Given the description of an element on the screen output the (x, y) to click on. 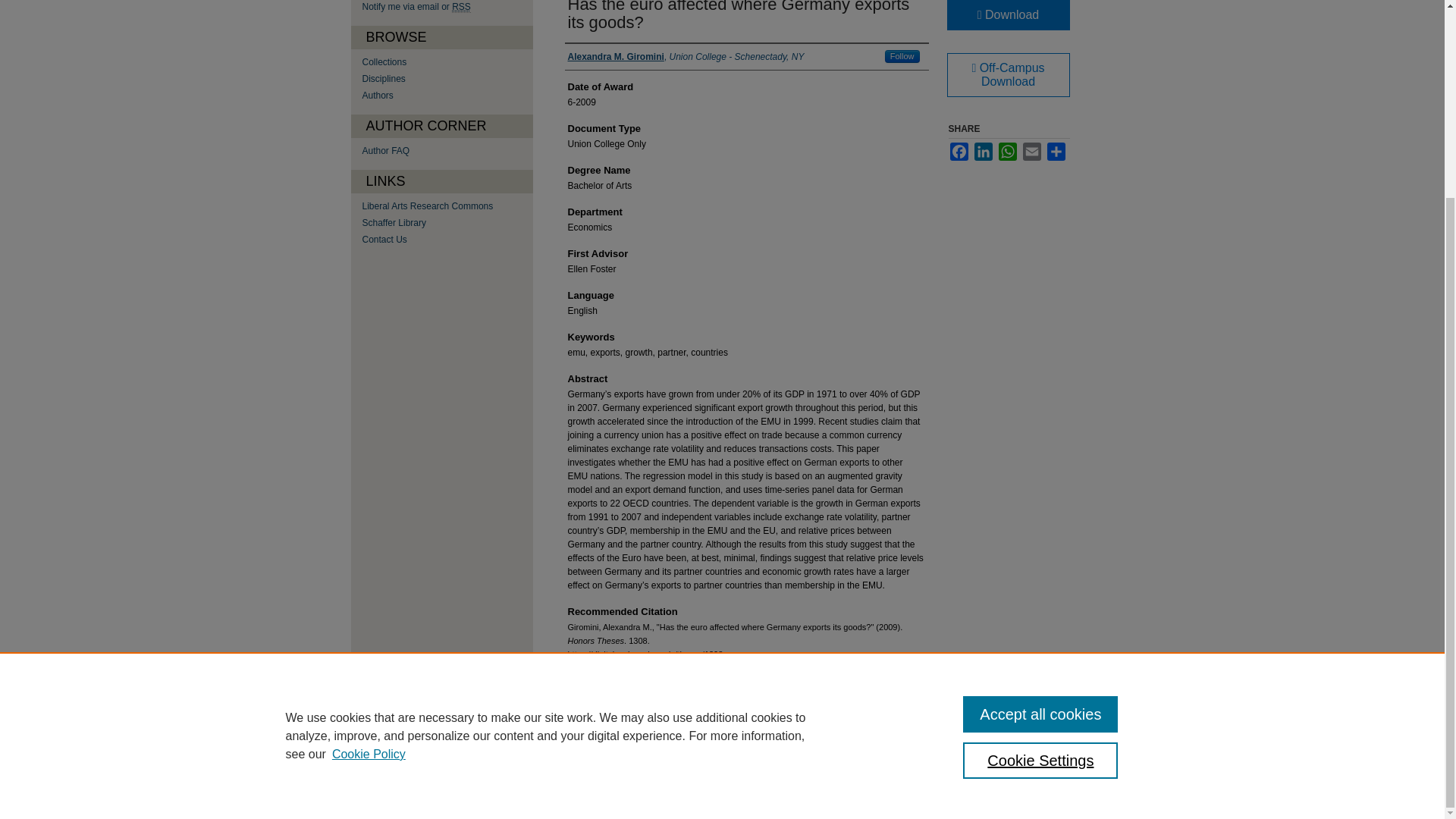
WhatsApp (1006, 151)
Browse by Disciplines (447, 78)
Download (1007, 15)
Follow (902, 56)
Collections (447, 61)
LinkedIn (982, 151)
Facebook (958, 151)
Liberal Arts Research Commons (447, 205)
Email or RSS Notifications (447, 6)
Author FAQ (447, 150)
Has the euro affected where Germany exports its goods? (737, 15)
Email (1031, 151)
Browse by Collections (447, 61)
Off-Campus Download (1007, 75)
Really Simple Syndication (460, 7)
